Given the description of an element on the screen output the (x, y) to click on. 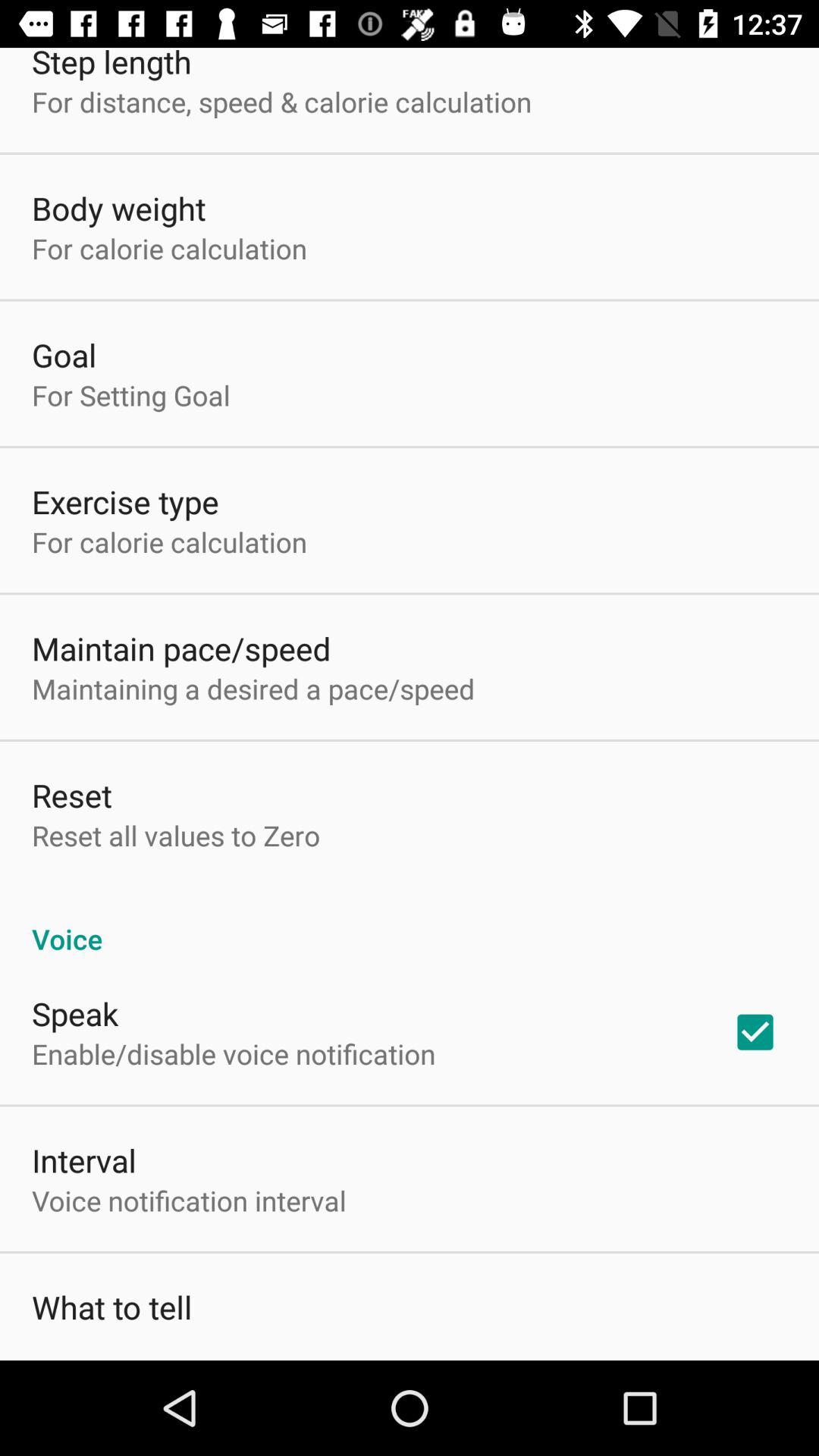
jump to the speak (74, 1013)
